Given the description of an element on the screen output the (x, y) to click on. 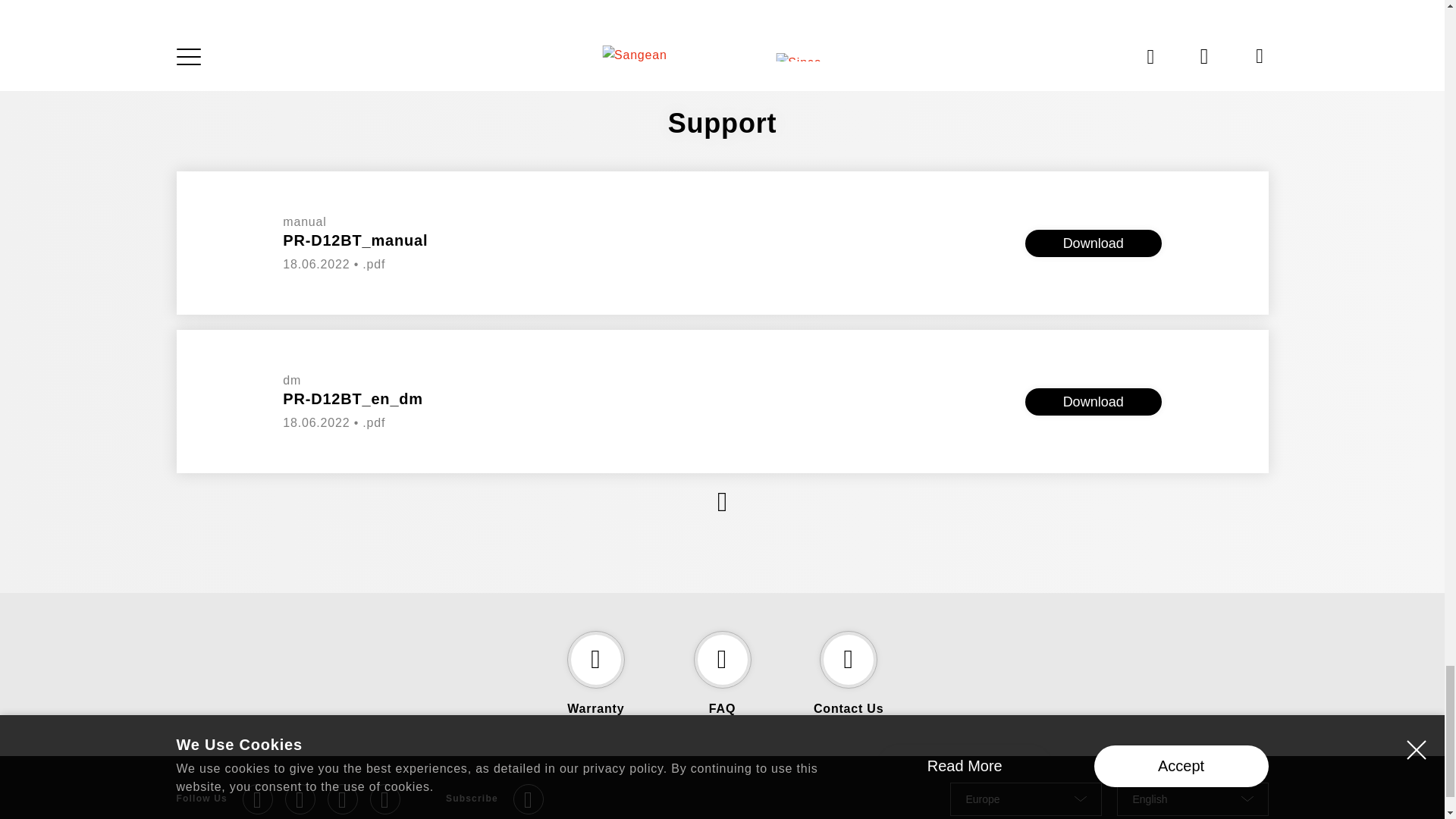
18.06.2022 (315, 264)
18.06.2022 (315, 422)
